Given the description of an element on the screen output the (x, y) to click on. 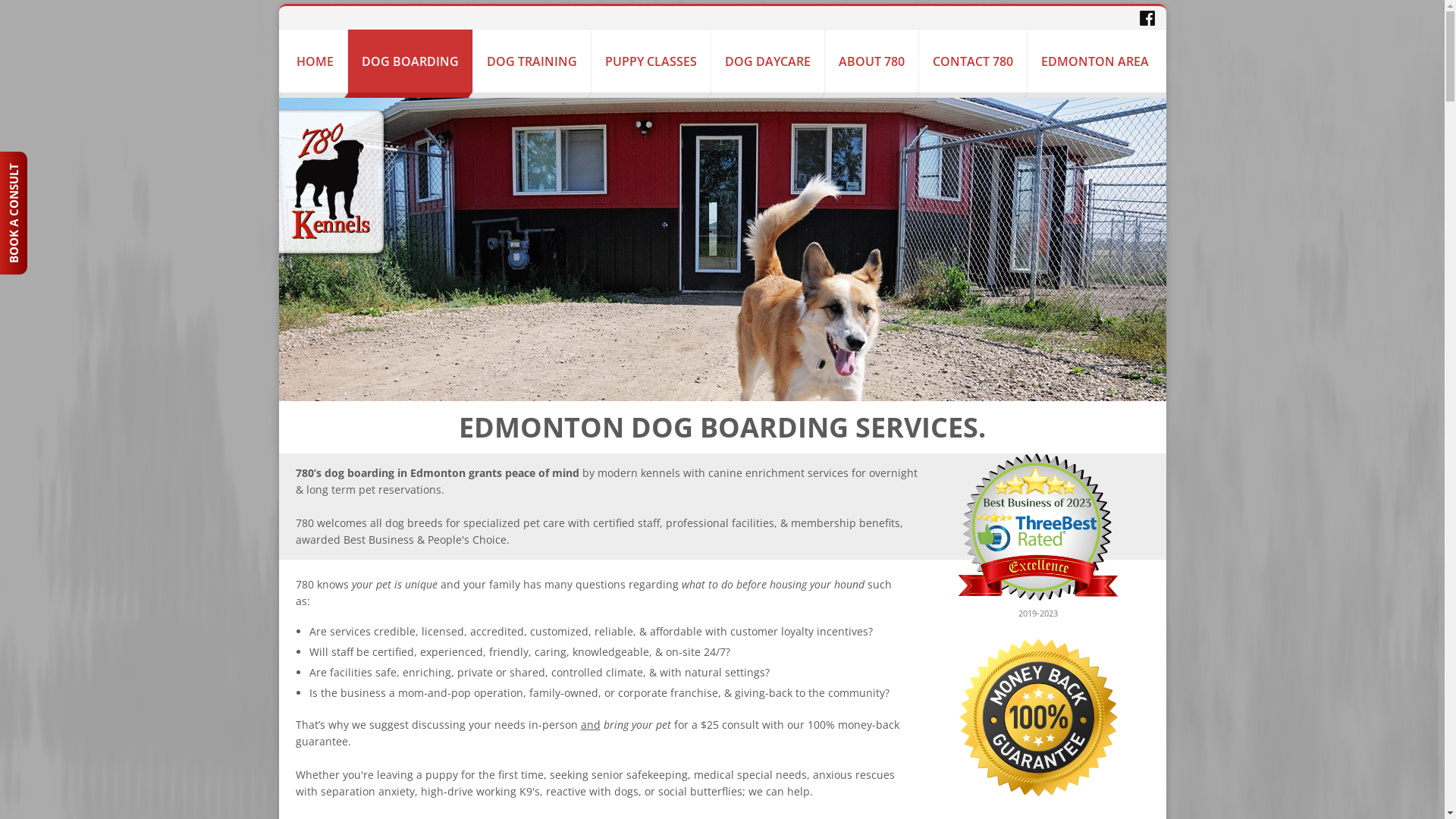
BOOK A CONSULT Element type: text (61, 164)
PUPPY CLASSES Element type: text (650, 60)
HOME Element type: text (314, 60)
2019-2023 Element type: text (1037, 569)
ABOUT 780 Element type: text (871, 60)
DOG BOARDING Element type: text (409, 60)
CONTACT 780 Element type: text (972, 60)
100% money-back guarantee badge. Element type: hover (1037, 717)
EDMONTON AREA Element type: text (1093, 60)
DOG DAYCARE Element type: text (767, 60)
Dog boarding facilities with a canine guest Edmonton, AB. Element type: hover (722, 249)
DOG TRAINING Element type: text (531, 60)
Follow 4,000 + likes for us on Facebook. Element type: hover (1146, 17)
